Given the description of an element on the screen output the (x, y) to click on. 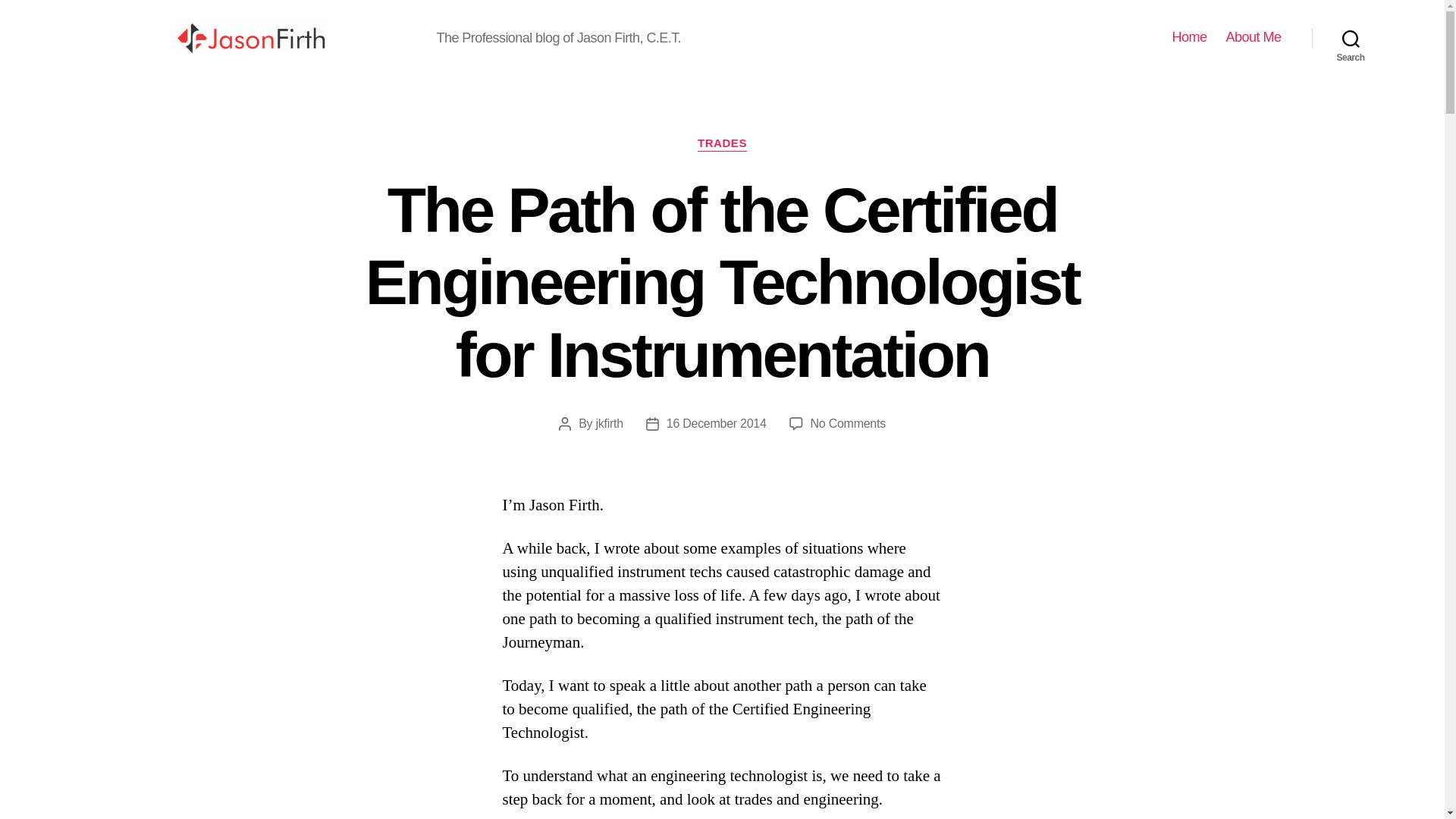
Home (1189, 37)
jkfirth (609, 422)
About Me (1253, 37)
TRADES (721, 143)
Search (1350, 37)
16 December 2014 (716, 422)
